Given the description of an element on the screen output the (x, y) to click on. 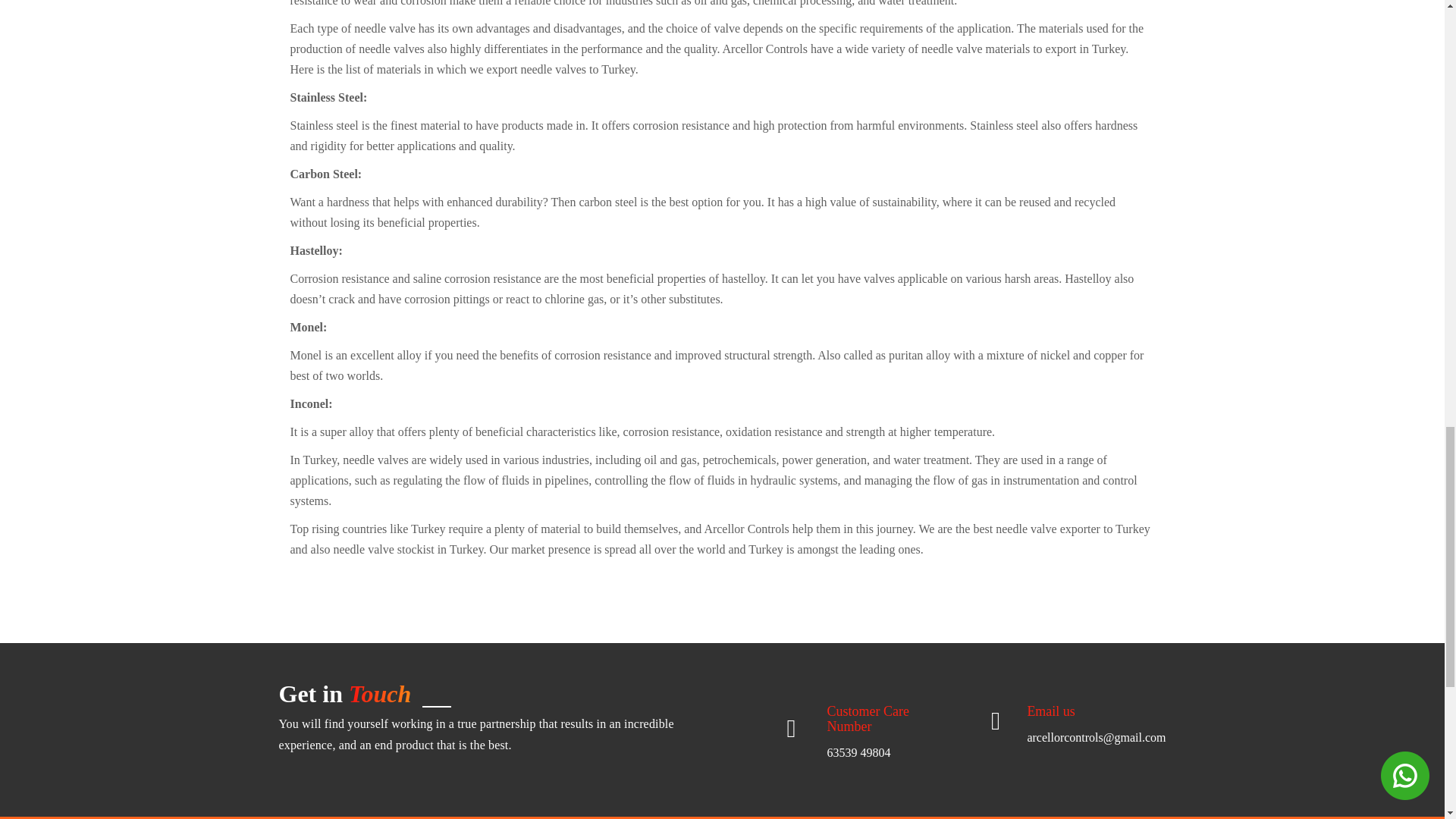
63539 49804 (858, 752)
